Given the description of an element on the screen output the (x, y) to click on. 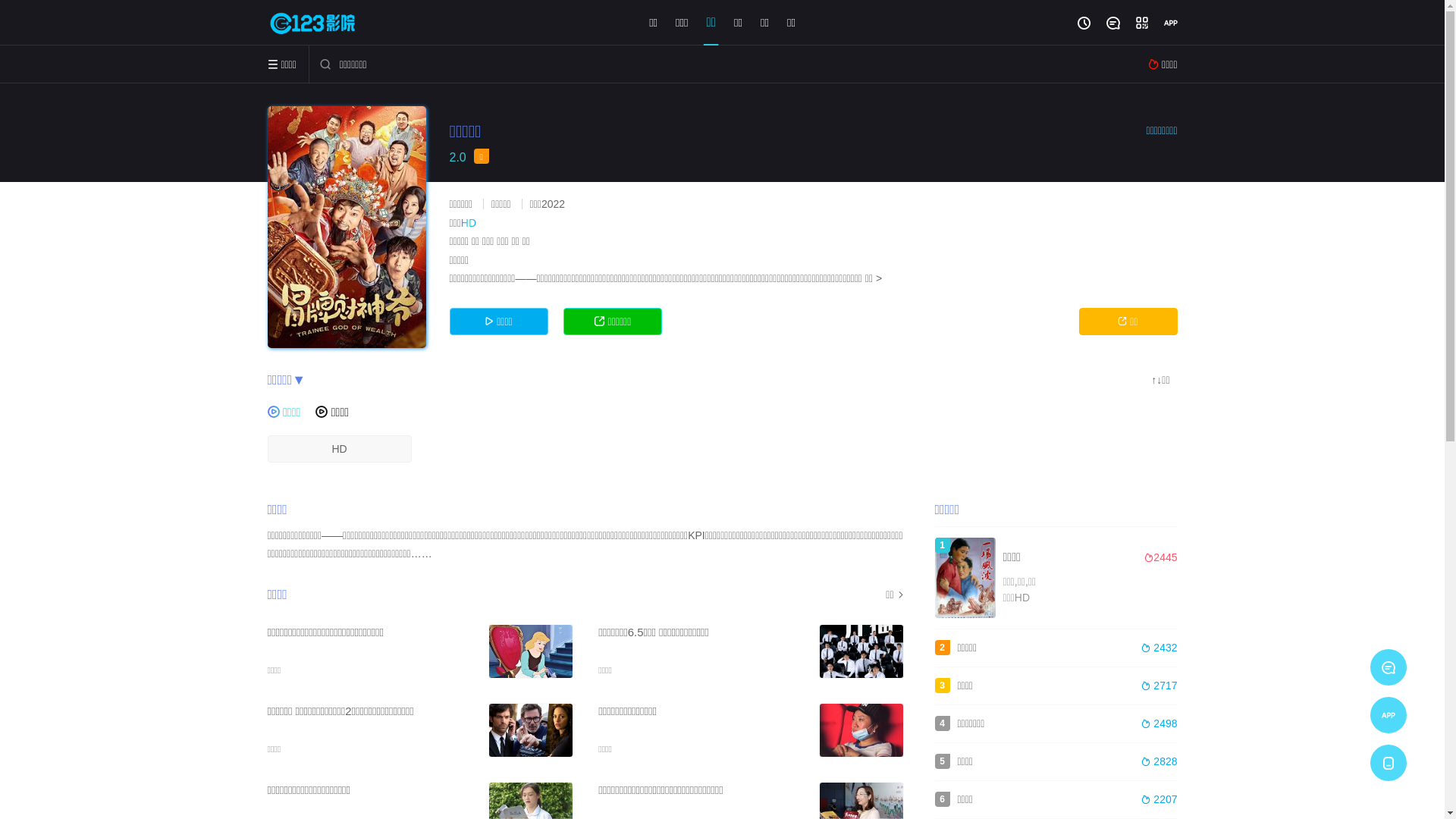
2022 Element type: text (552, 203)
HD Element type: text (338, 448)
